Given the description of an element on the screen output the (x, y) to click on. 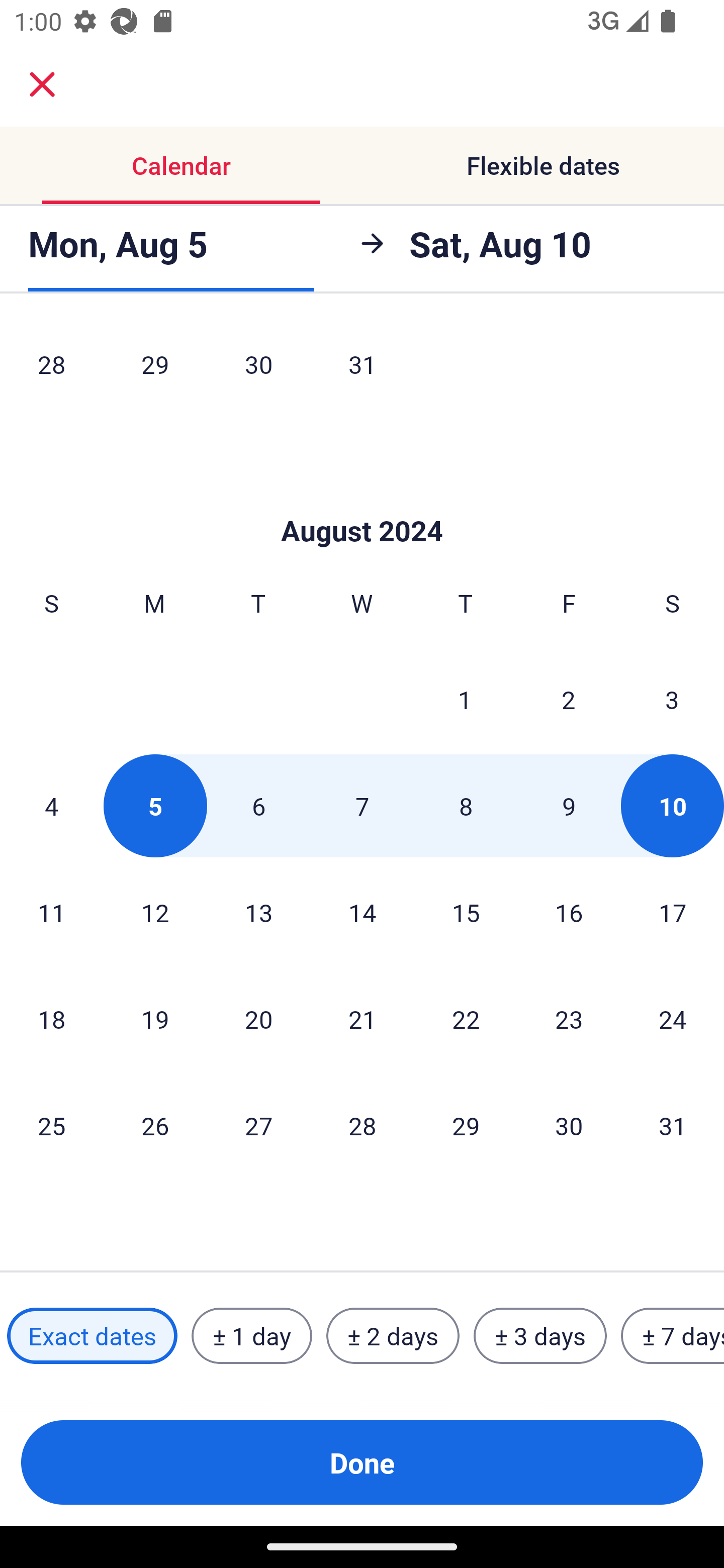
close. (42, 84)
Flexible dates (542, 164)
28 Sunday, July 28, 2024 (51, 368)
29 Monday, July 29, 2024 (155, 368)
30 Tuesday, July 30, 2024 (258, 368)
31 Wednesday, July 31, 2024 (362, 368)
Skip to Done (362, 500)
1 Thursday, August 1, 2024 (464, 699)
2 Friday, August 2, 2024 (568, 699)
3 Saturday, August 3, 2024 (672, 699)
4 Sunday, August 4, 2024 (51, 805)
11 Sunday, August 11, 2024 (51, 912)
12 Monday, August 12, 2024 (155, 912)
13 Tuesday, August 13, 2024 (258, 912)
14 Wednesday, August 14, 2024 (362, 912)
15 Thursday, August 15, 2024 (465, 912)
16 Friday, August 16, 2024 (569, 912)
17 Saturday, August 17, 2024 (672, 912)
18 Sunday, August 18, 2024 (51, 1018)
19 Monday, August 19, 2024 (155, 1018)
20 Tuesday, August 20, 2024 (258, 1018)
21 Wednesday, August 21, 2024 (362, 1018)
22 Thursday, August 22, 2024 (465, 1018)
23 Friday, August 23, 2024 (569, 1018)
24 Saturday, August 24, 2024 (672, 1018)
25 Sunday, August 25, 2024 (51, 1125)
26 Monday, August 26, 2024 (155, 1125)
27 Tuesday, August 27, 2024 (258, 1125)
28 Wednesday, August 28, 2024 (362, 1125)
29 Thursday, August 29, 2024 (465, 1125)
30 Friday, August 30, 2024 (569, 1125)
31 Saturday, August 31, 2024 (672, 1125)
Exact dates (92, 1335)
± 1 day (251, 1335)
± 2 days (392, 1335)
± 3 days (539, 1335)
± 7 days (672, 1335)
Done (361, 1462)
